Given the description of an element on the screen output the (x, y) to click on. 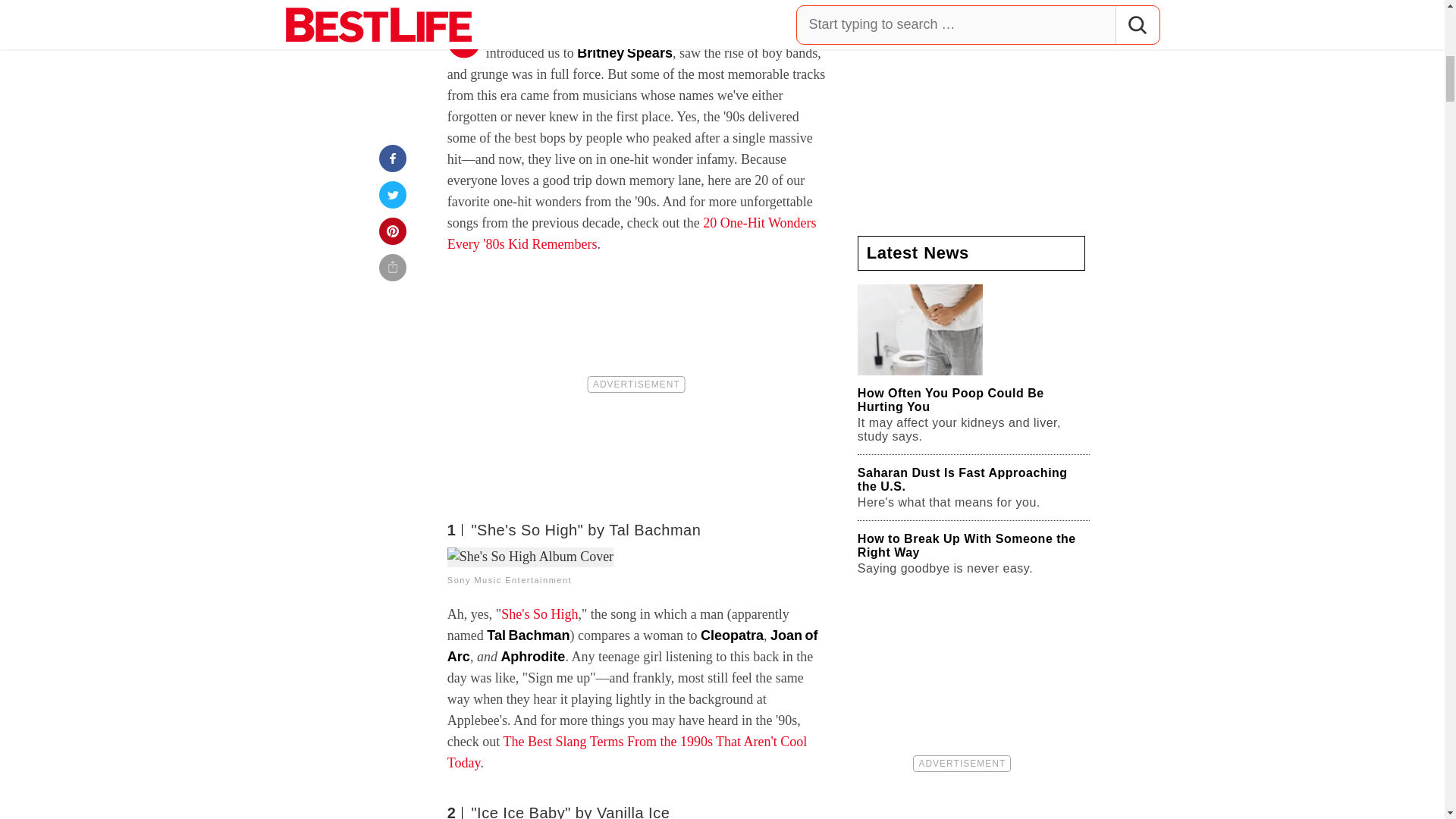
The Best Slang Terms From the 1990s That Aren't Cool Today (626, 751)
She's So High (539, 613)
20 One-Hit Wonders Every '80s Kid Remembers (631, 233)
the 1990s (636, 31)
